Given the description of an element on the screen output the (x, y) to click on. 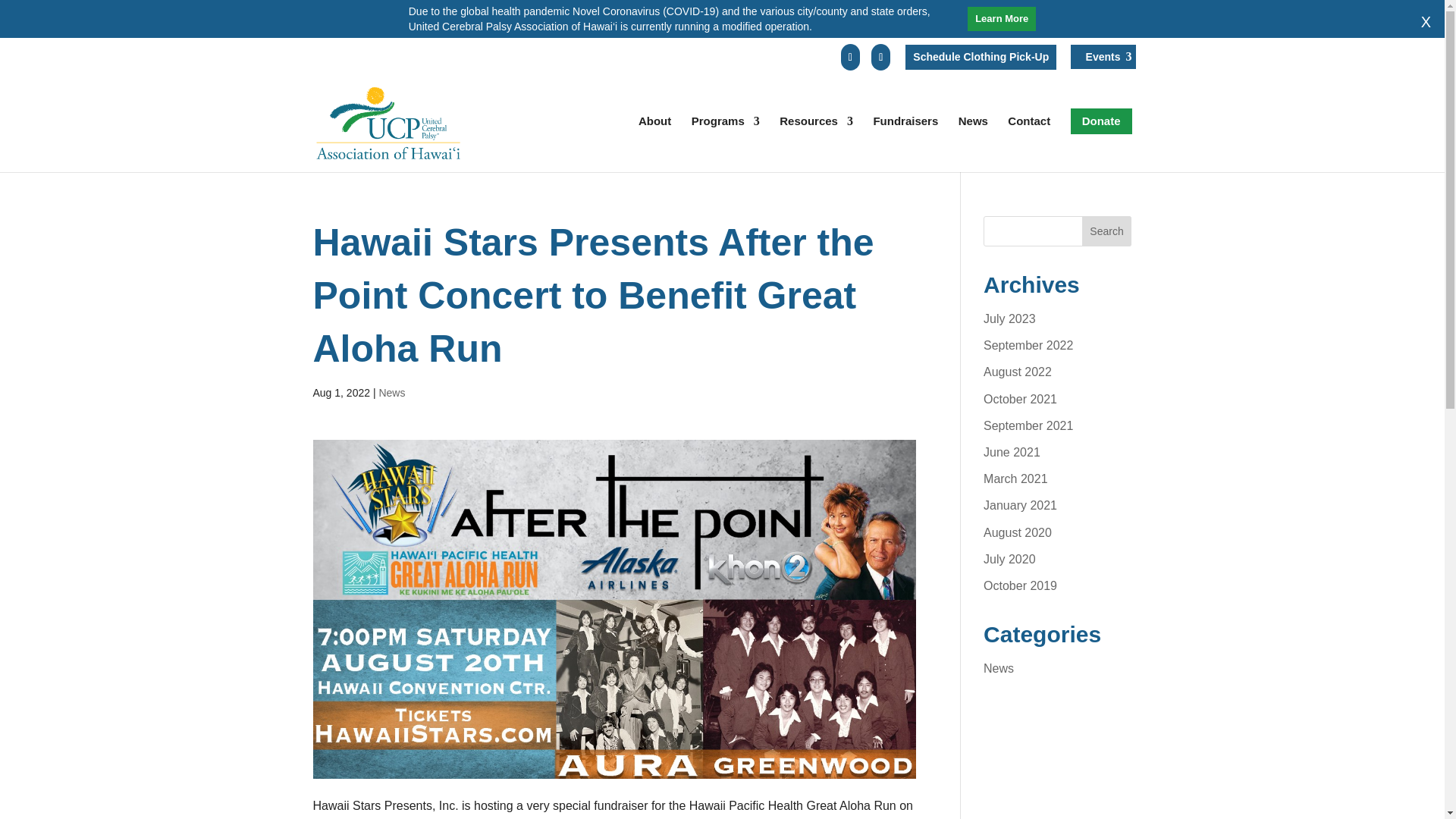
September 2022 (1028, 345)
July 2023 (1009, 318)
About (655, 138)
Events (1102, 56)
Resources (815, 138)
Search (1106, 231)
Programs (725, 138)
News (391, 392)
Schedule Clothing Pick-Up (981, 57)
News (973, 138)
Contact (1028, 138)
Donate (1101, 121)
August 2022 (1017, 371)
Fundraisers (904, 138)
Search (1106, 231)
